Given the description of an element on the screen output the (x, y) to click on. 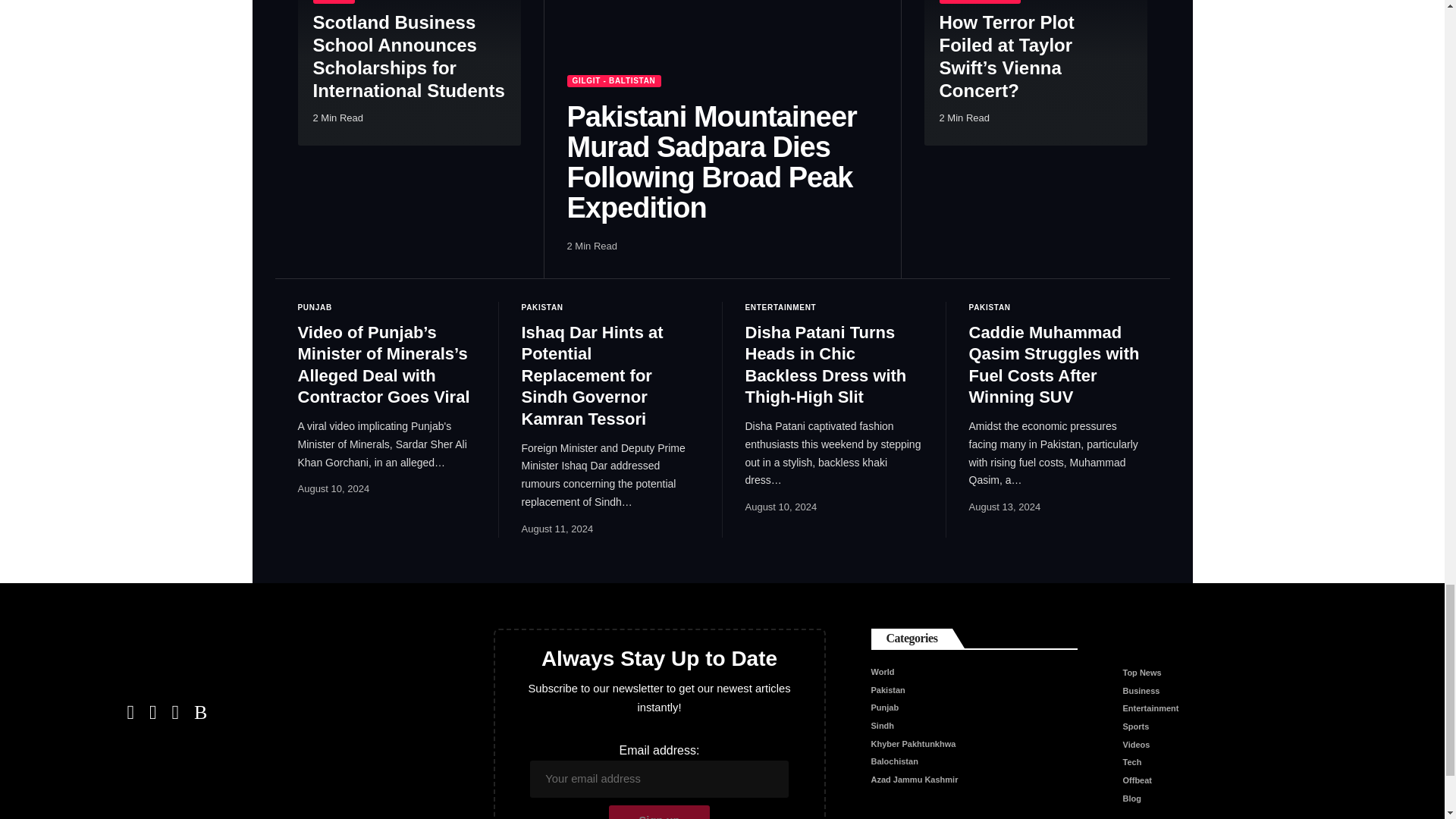
Sign up (659, 812)
